Given the description of an element on the screen output the (x, y) to click on. 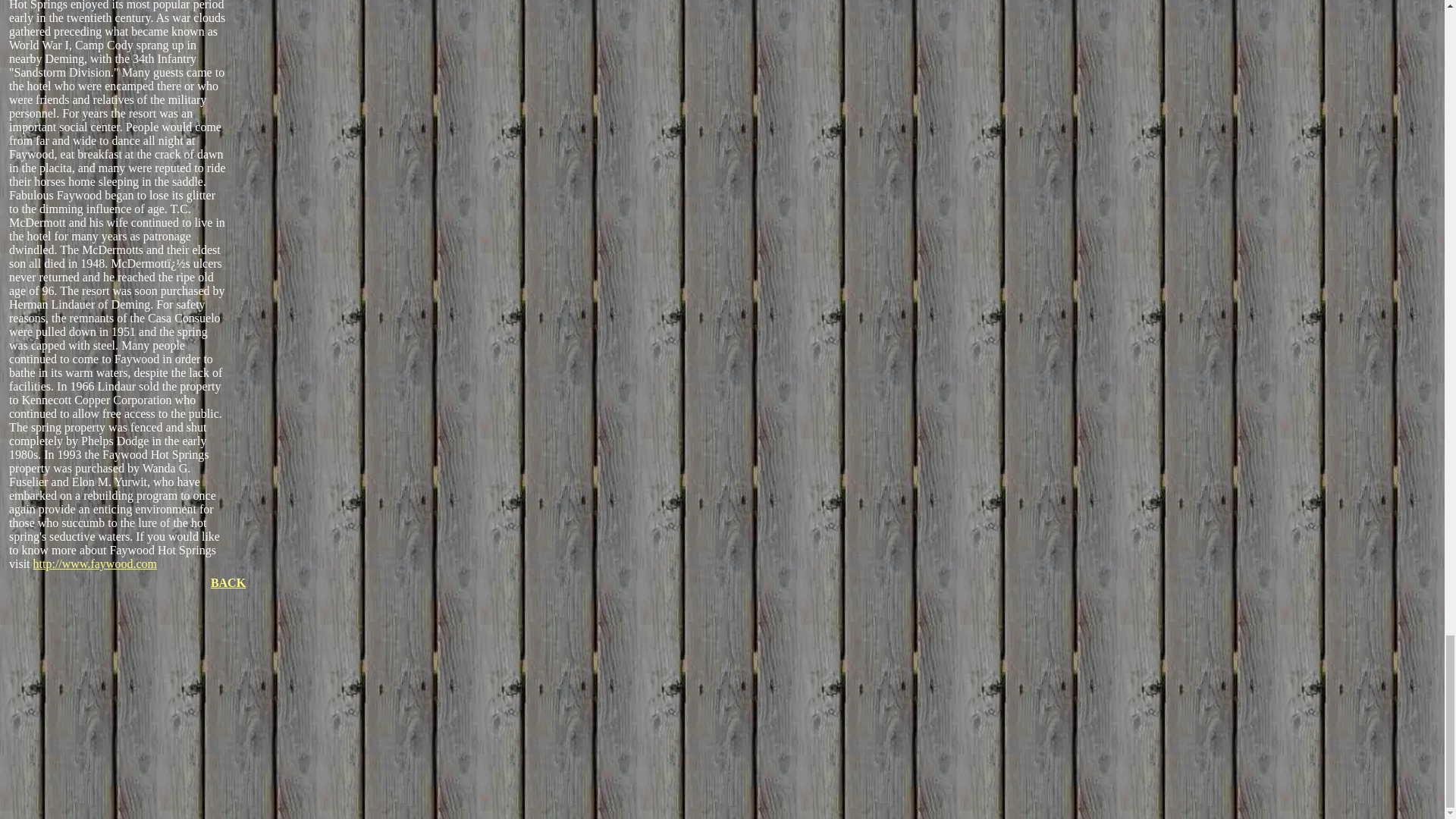
BACK (228, 581)
